Given the description of an element on the screen output the (x, y) to click on. 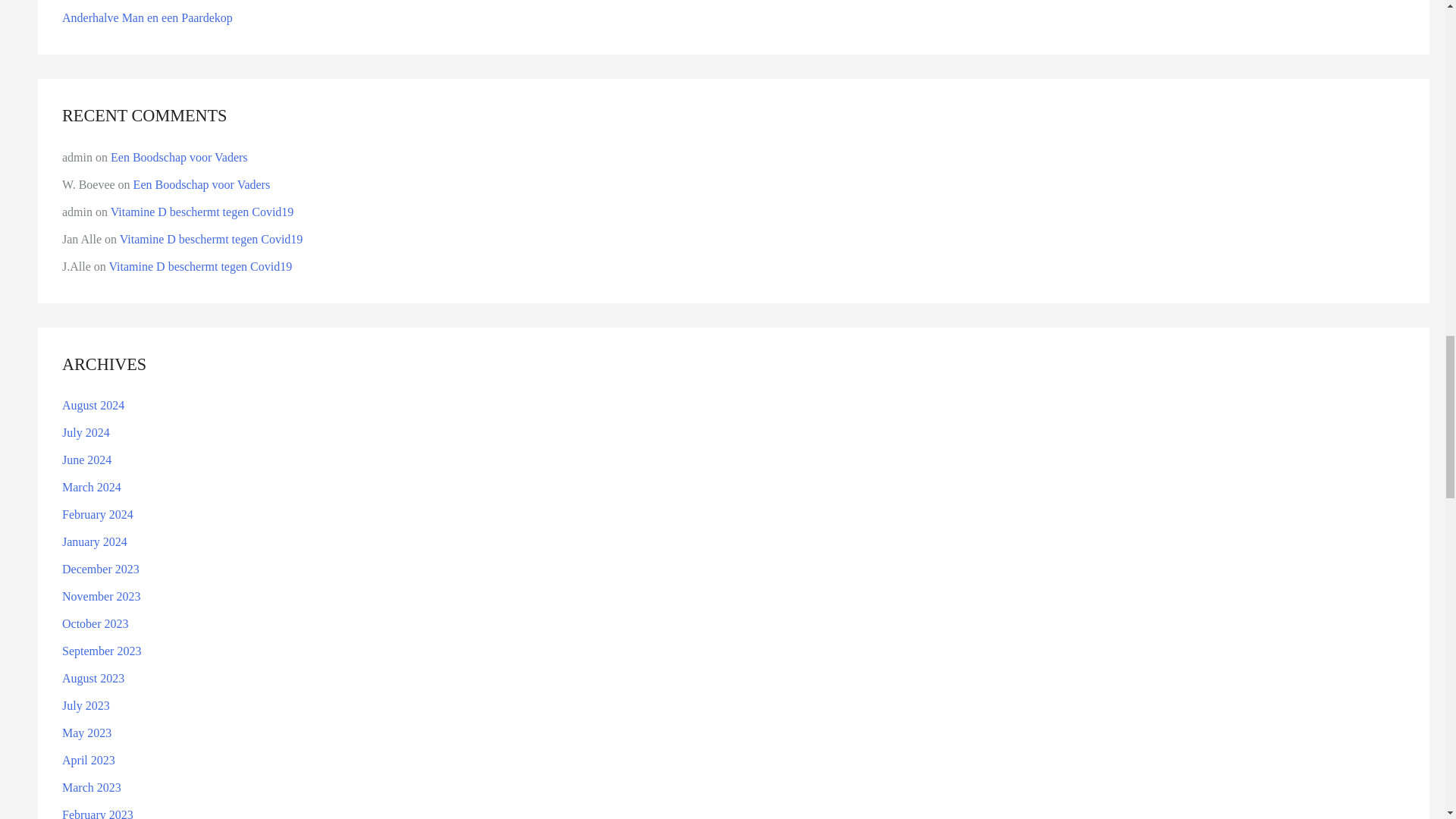
Anderhalve Man en een Paardekop (147, 17)
Vitamine D beschermt tegen Covid19 (210, 238)
July 2024 (86, 431)
March 2024 (91, 486)
August 2024 (92, 404)
November 2023 (101, 595)
Een Boodschap voor Vaders (201, 184)
Vitamine D beschermt tegen Covid19 (200, 266)
Vitamine D beschermt tegen Covid19 (202, 211)
December 2023 (100, 568)
